Given the description of an element on the screen output the (x, y) to click on. 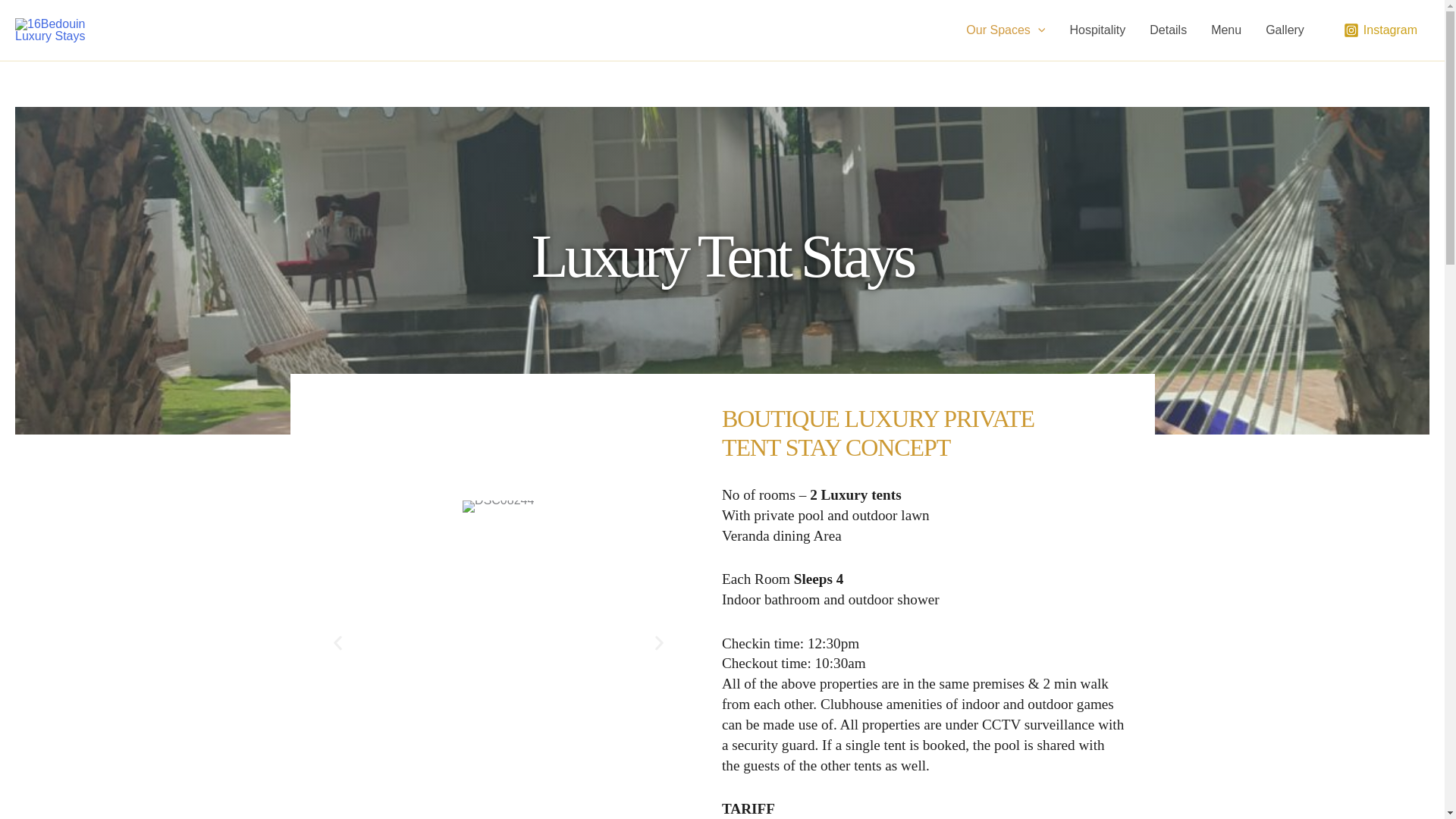
Instagram (1380, 29)
Gallery (1284, 30)
Our Spaces (1005, 30)
Menu (1225, 30)
Hospitality (1097, 30)
Details (1167, 30)
